Given the description of an element on the screen output the (x, y) to click on. 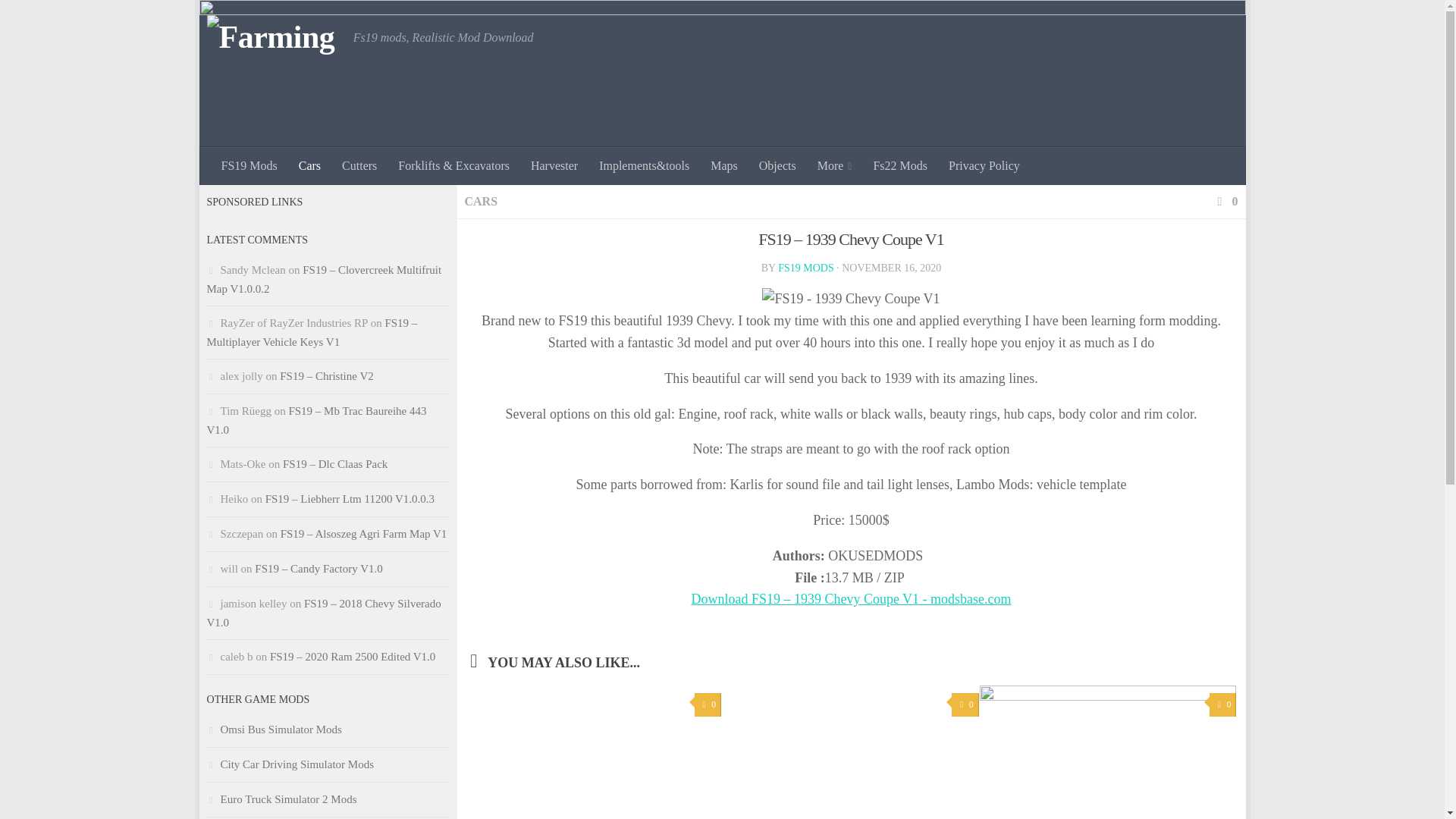
Cutters (359, 166)
Objects (777, 166)
Cars (309, 166)
More (834, 166)
Harvester (553, 166)
Posts by Fs19 mods (805, 267)
Skip to content (258, 20)
Maps (724, 166)
FS19 Mods (249, 166)
